Given the description of an element on the screen output the (x, y) to click on. 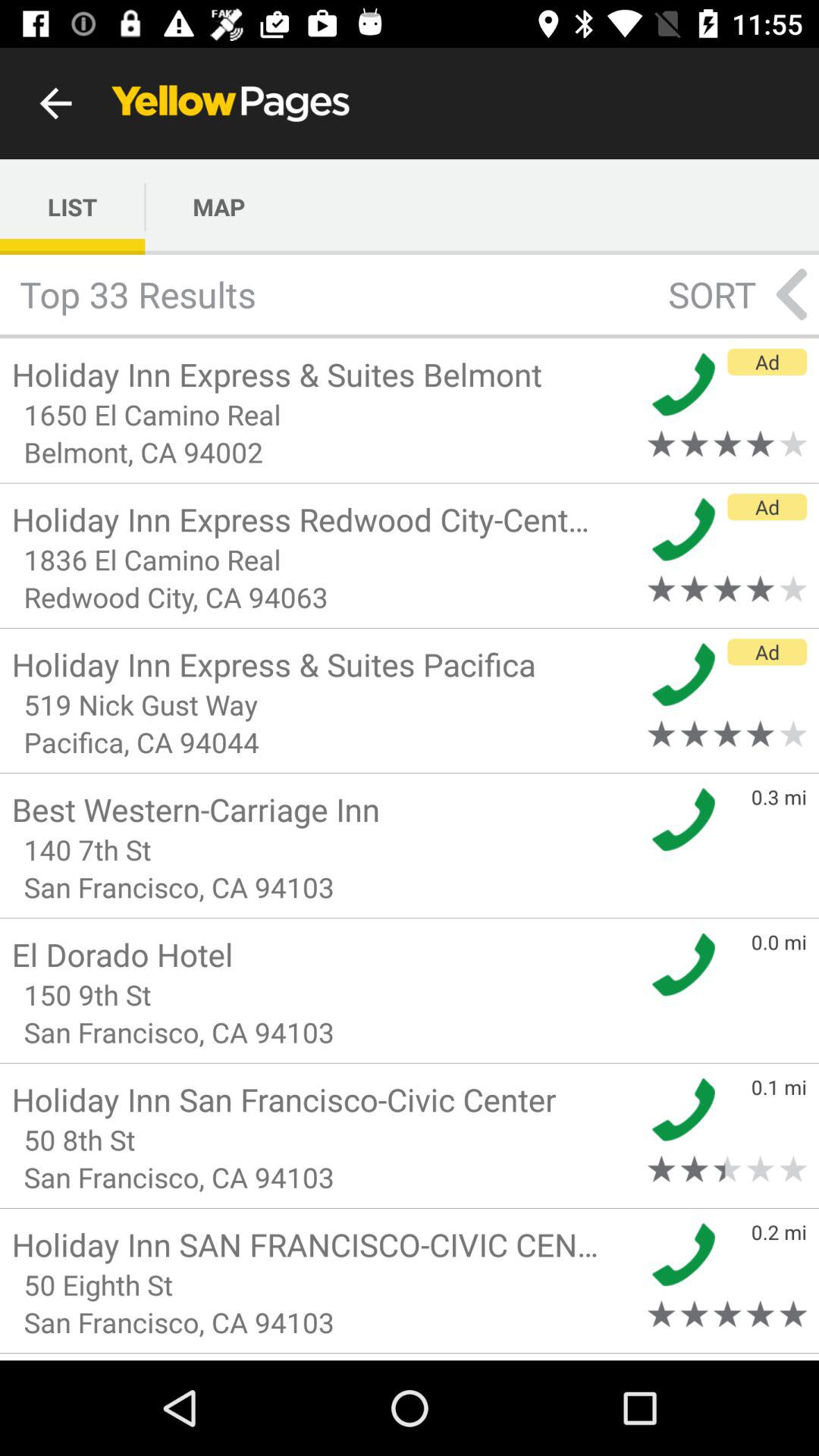
click icon to the right of the list item (218, 206)
